Given the description of an element on the screen output the (x, y) to click on. 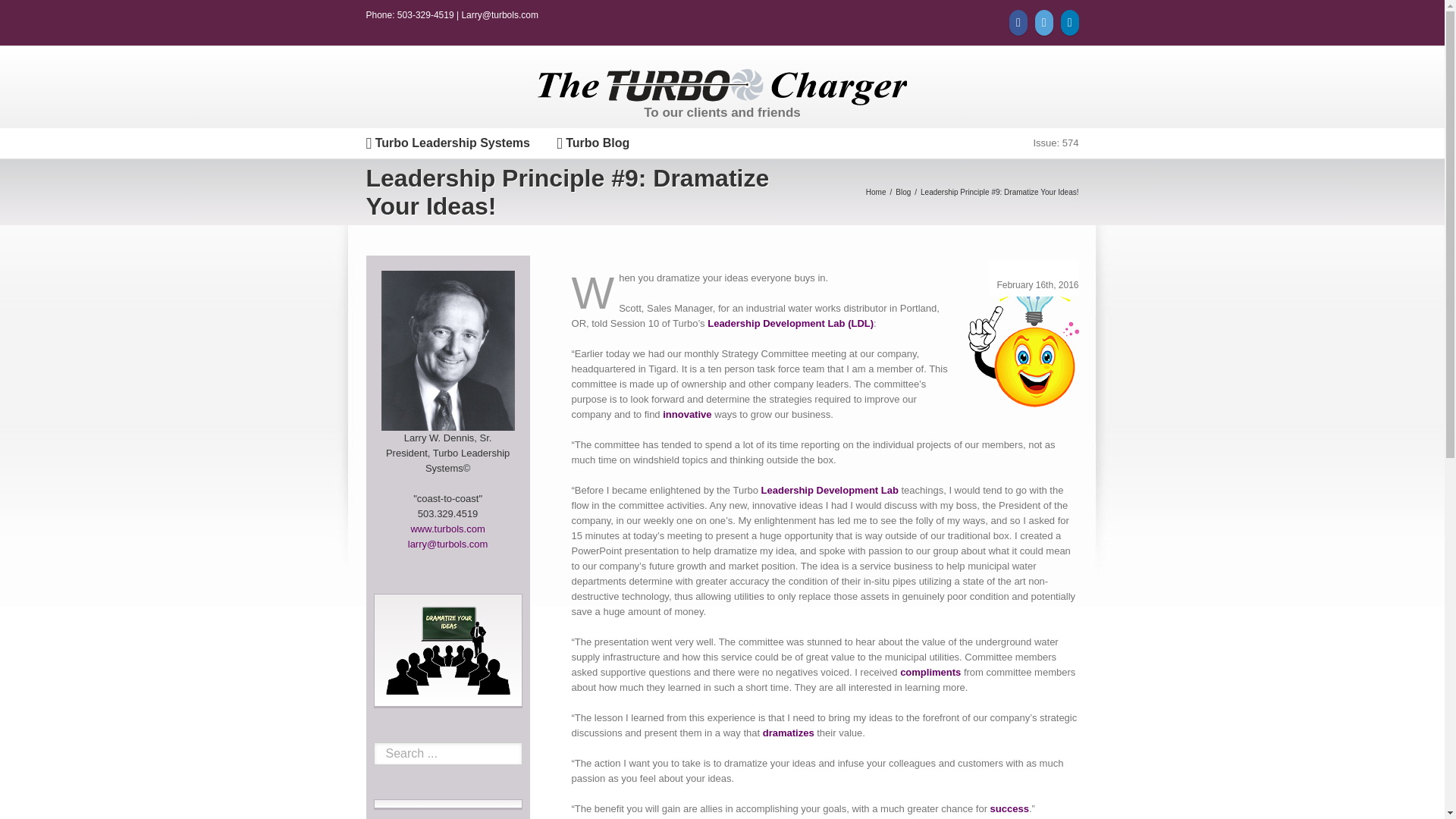
innovative (686, 414)
Turbo Leadership Systems (447, 142)
Leadership Development Lab (829, 490)
Blog (904, 192)
compliments (929, 672)
dramatizes (787, 732)
success (1009, 808)
Blog (904, 192)
Turbo Blog (592, 142)
Home (877, 192)
